Given the description of an element on the screen output the (x, y) to click on. 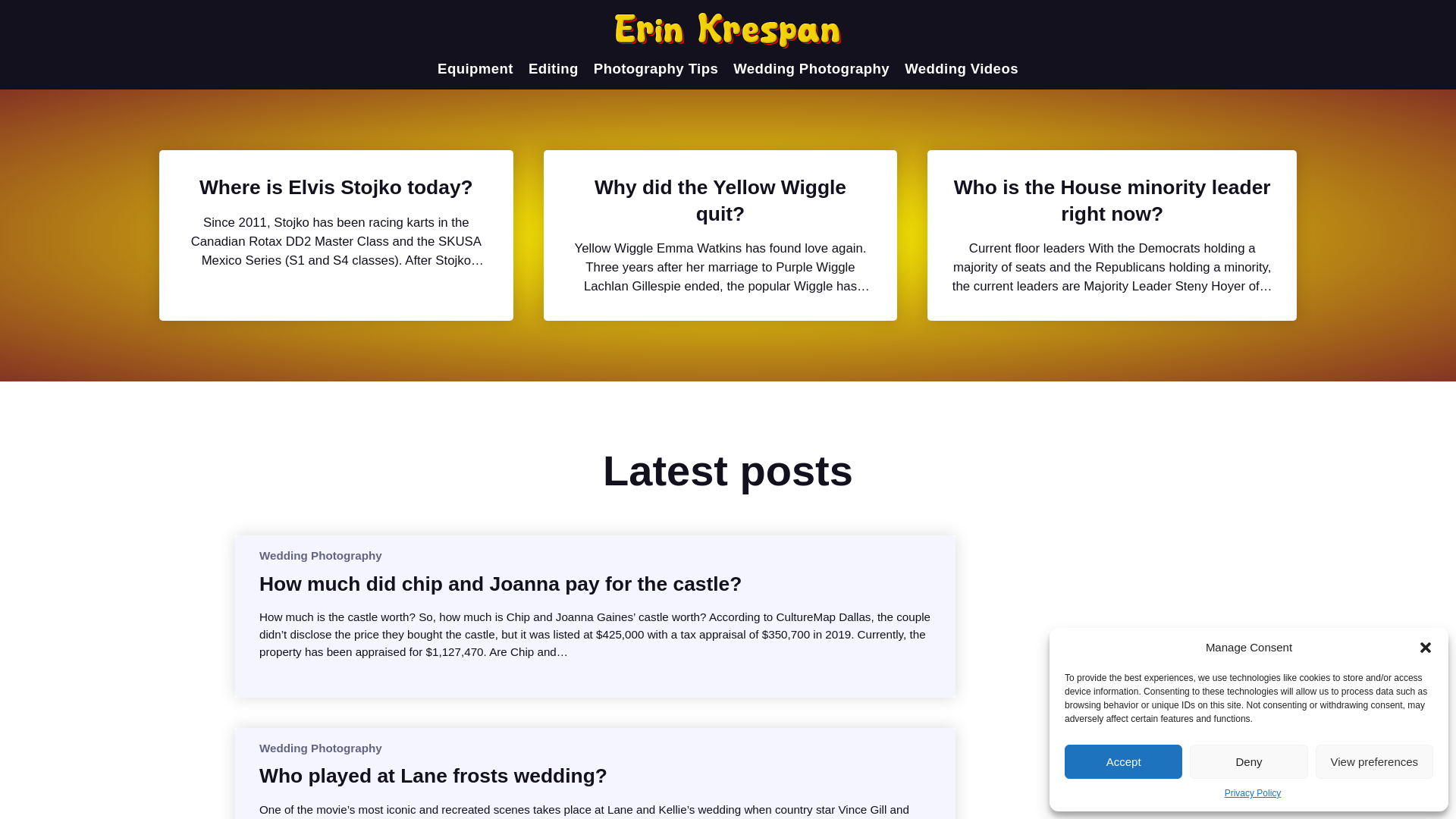
Photography Tips (655, 68)
Who played at Lane frosts wedding? (433, 775)
Wedding Photography (320, 748)
Editing (553, 68)
Deny (1248, 761)
How much did chip and Joanna pay for the castle? (500, 583)
Accept (1123, 761)
View preferences (1374, 761)
Wedding Photography (811, 68)
Wedding Photography (320, 554)
Equipment (475, 68)
Wedding Videos (960, 68)
Privacy Policy (1252, 793)
Why did the Yellow Wiggle quit? (720, 200)
Who is the House minority leader right now? (1112, 200)
